Given the description of an element on the screen output the (x, y) to click on. 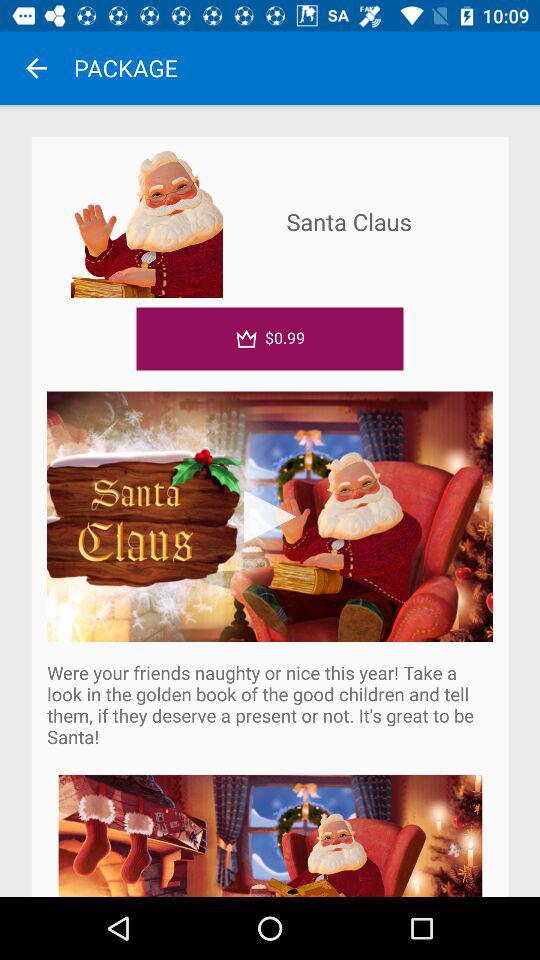
tap item above were your friends (269, 516)
